Given the description of an element on the screen output the (x, y) to click on. 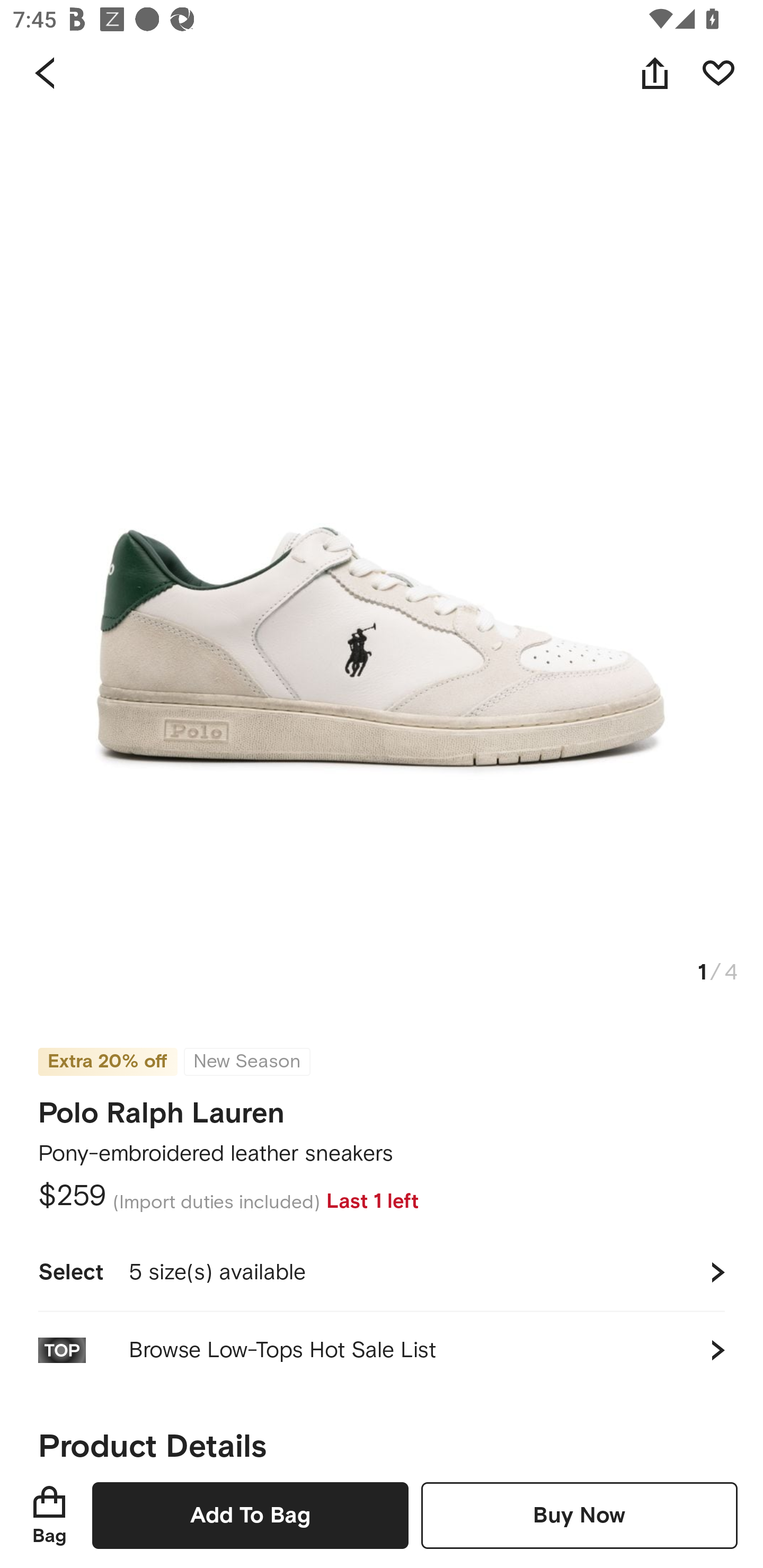
Extra 20% off (107, 1049)
Polo Ralph Lauren (161, 1107)
Select 5 size(s) available (381, 1272)
Browse Low-Tops Hot Sale List (381, 1349)
Bag (49, 1515)
Add To Bag (250, 1515)
Buy Now (579, 1515)
